Given the description of an element on the screen output the (x, y) to click on. 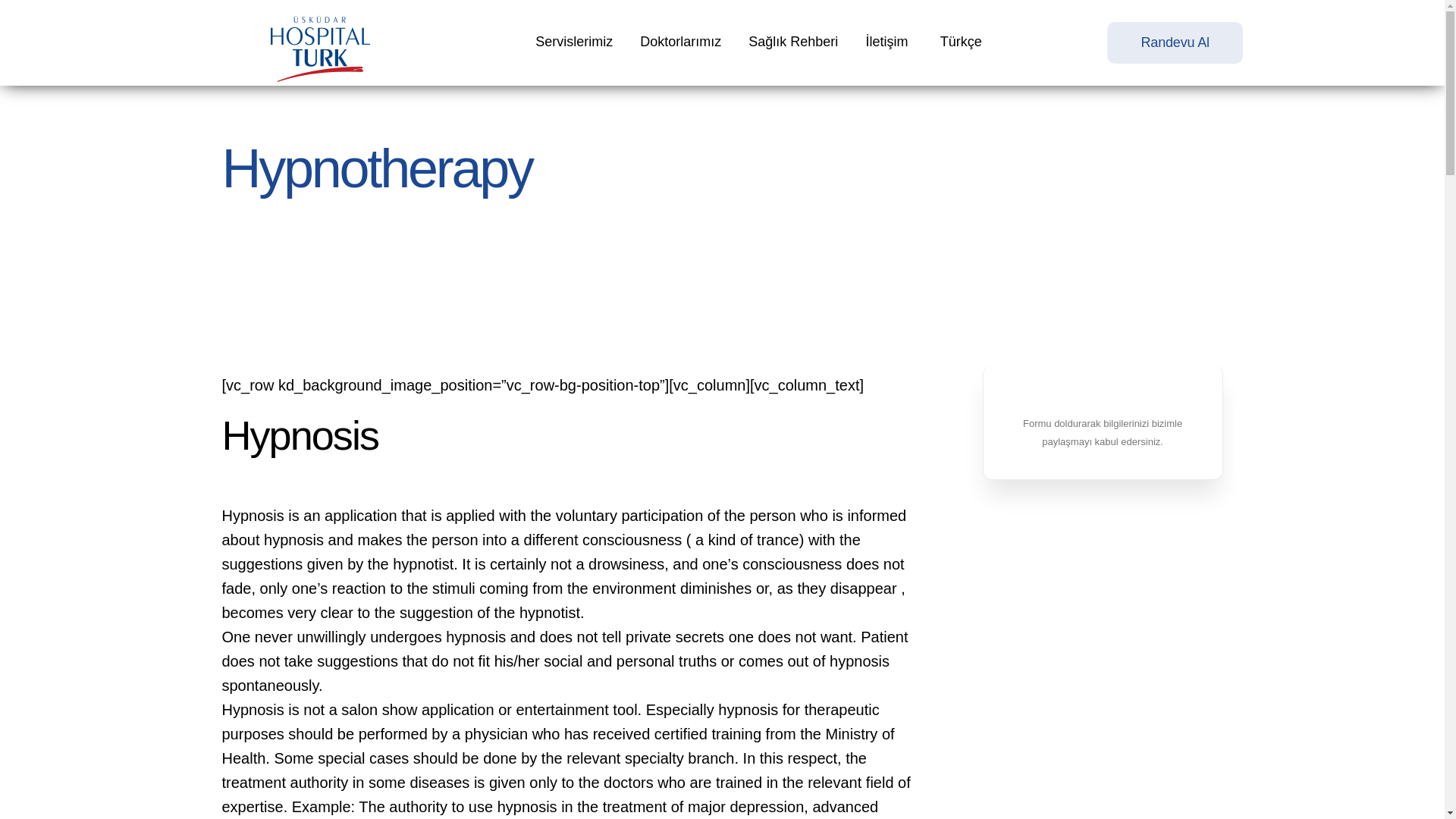
Servislerimiz (574, 42)
Randevu Al (1173, 42)
